Given the description of an element on the screen output the (x, y) to click on. 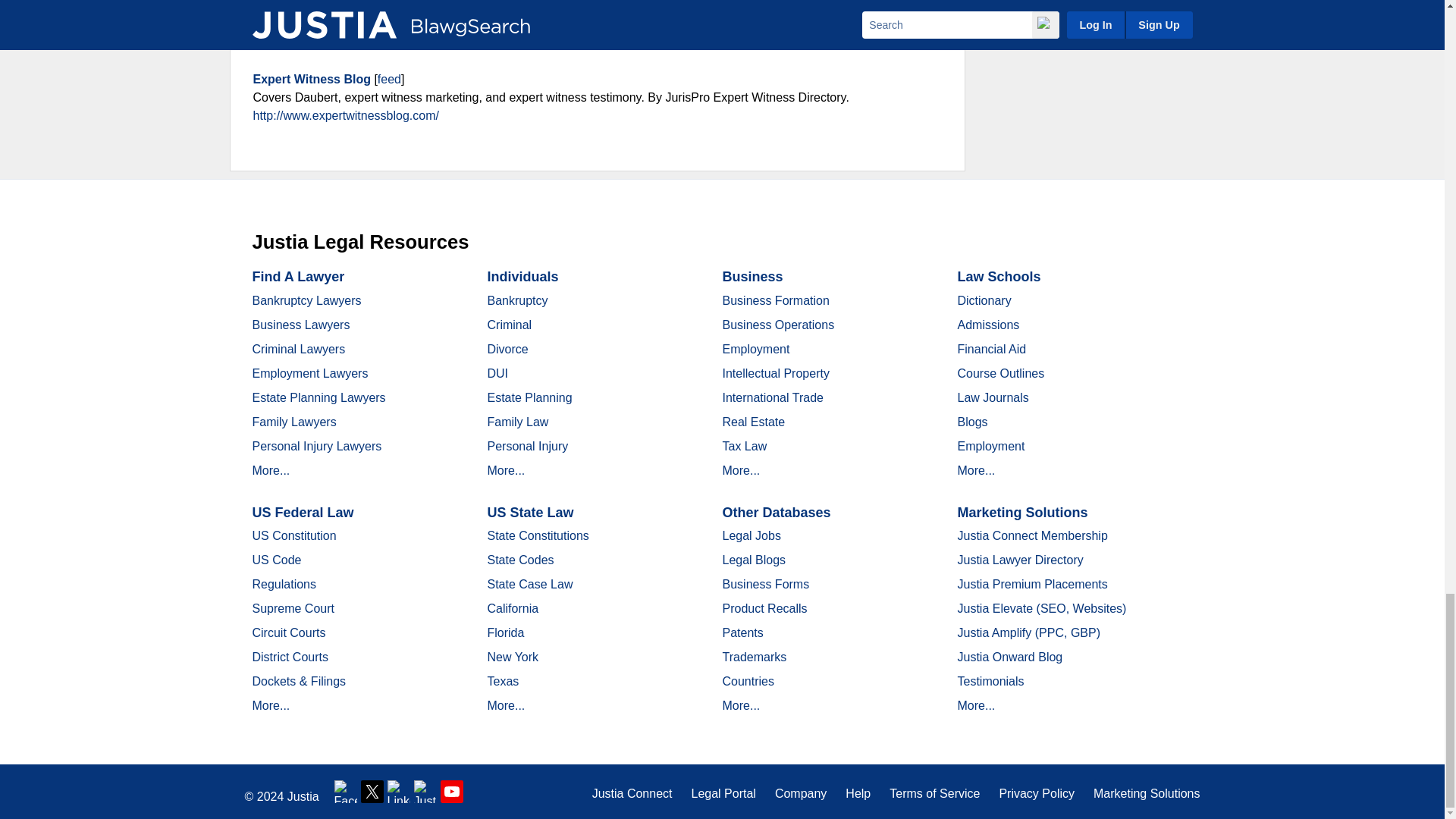
Justia Lawyer Directory (424, 791)
Justia Lawyer Directory (452, 791)
Facebook (345, 791)
Twitter (372, 791)
LinkedIn (398, 791)
